Given the description of an element on the screen output the (x, y) to click on. 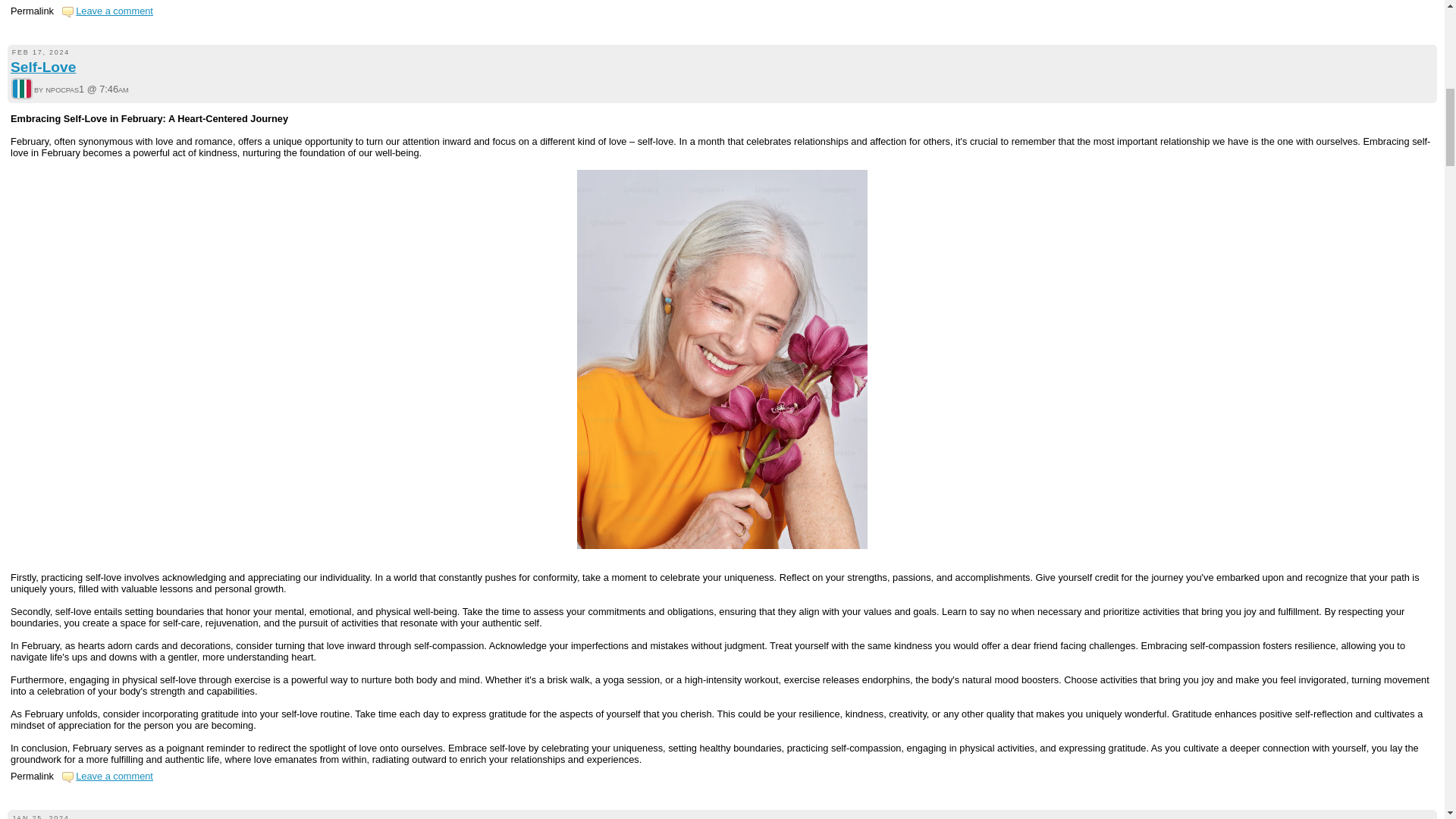
Self-Love (42, 66)
npocpas1 (21, 88)
View profile of npocpas1 (21, 89)
Leave a comment (113, 776)
Leave a comment (113, 10)
Permalink (31, 776)
Permalink (31, 10)
